Given the description of an element on the screen output the (x, y) to click on. 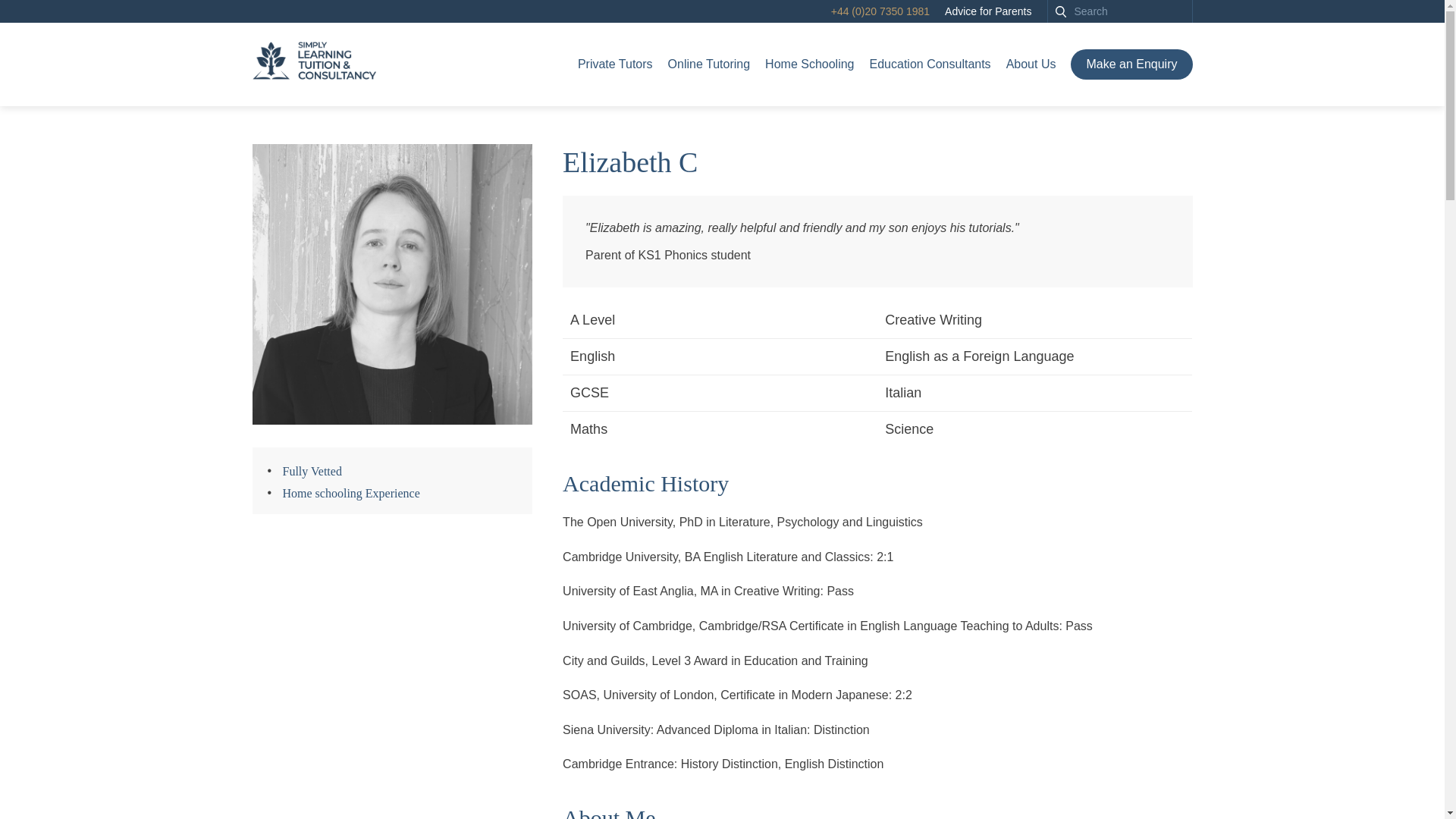
Private Tutors (615, 64)
About Us (1031, 64)
Advice for Parents (987, 11)
Education Consultants (930, 64)
Online Tutoring (709, 64)
Home Schooling (809, 64)
